Given the description of an element on the screen output the (x, y) to click on. 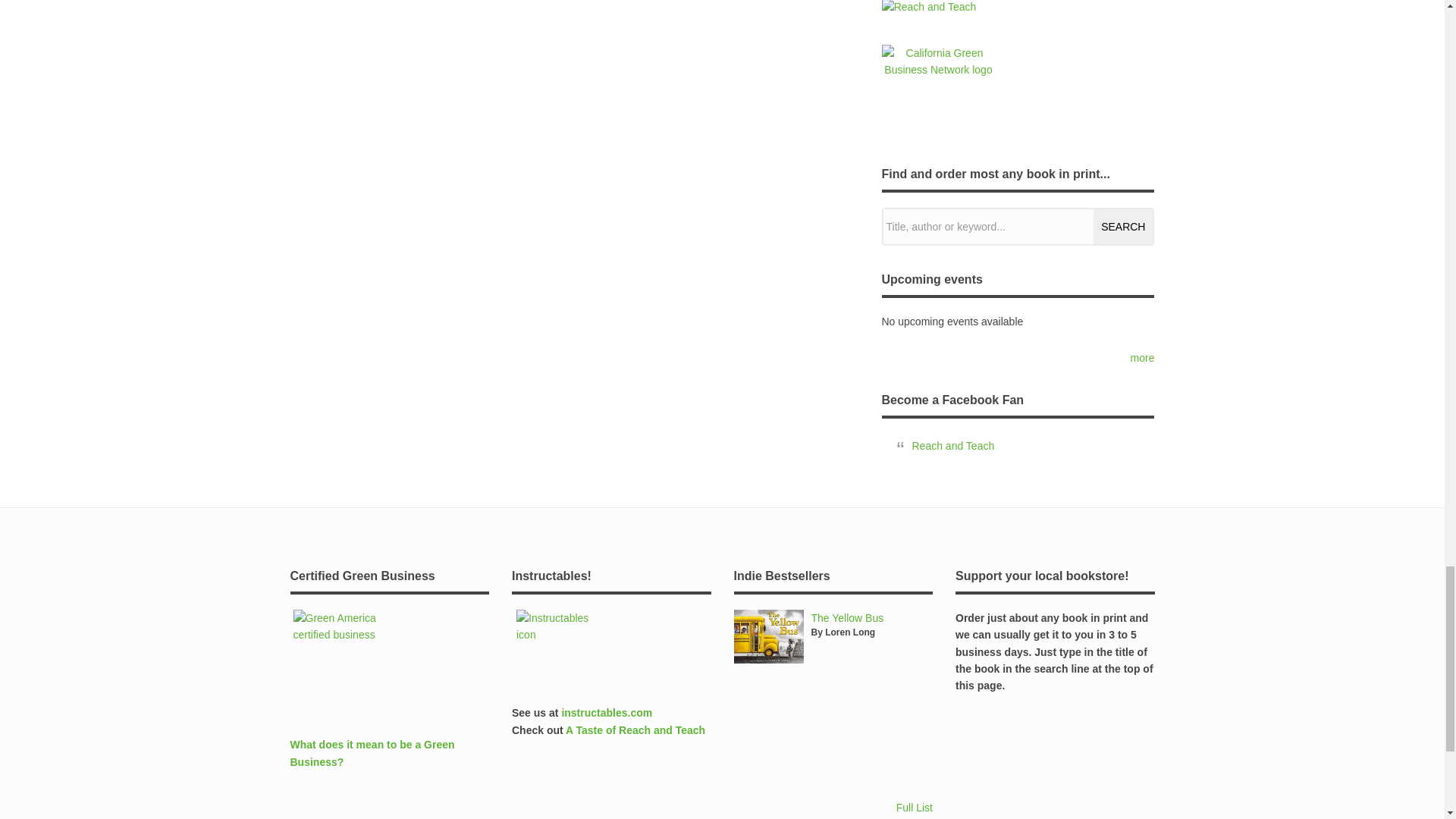
search (1123, 226)
The Yellow Bus - by Loren Long (768, 636)
Title, author or keyword... (1017, 226)
The Yellow Bus - by Loren Long (846, 617)
